Given the description of an element on the screen output the (x, y) to click on. 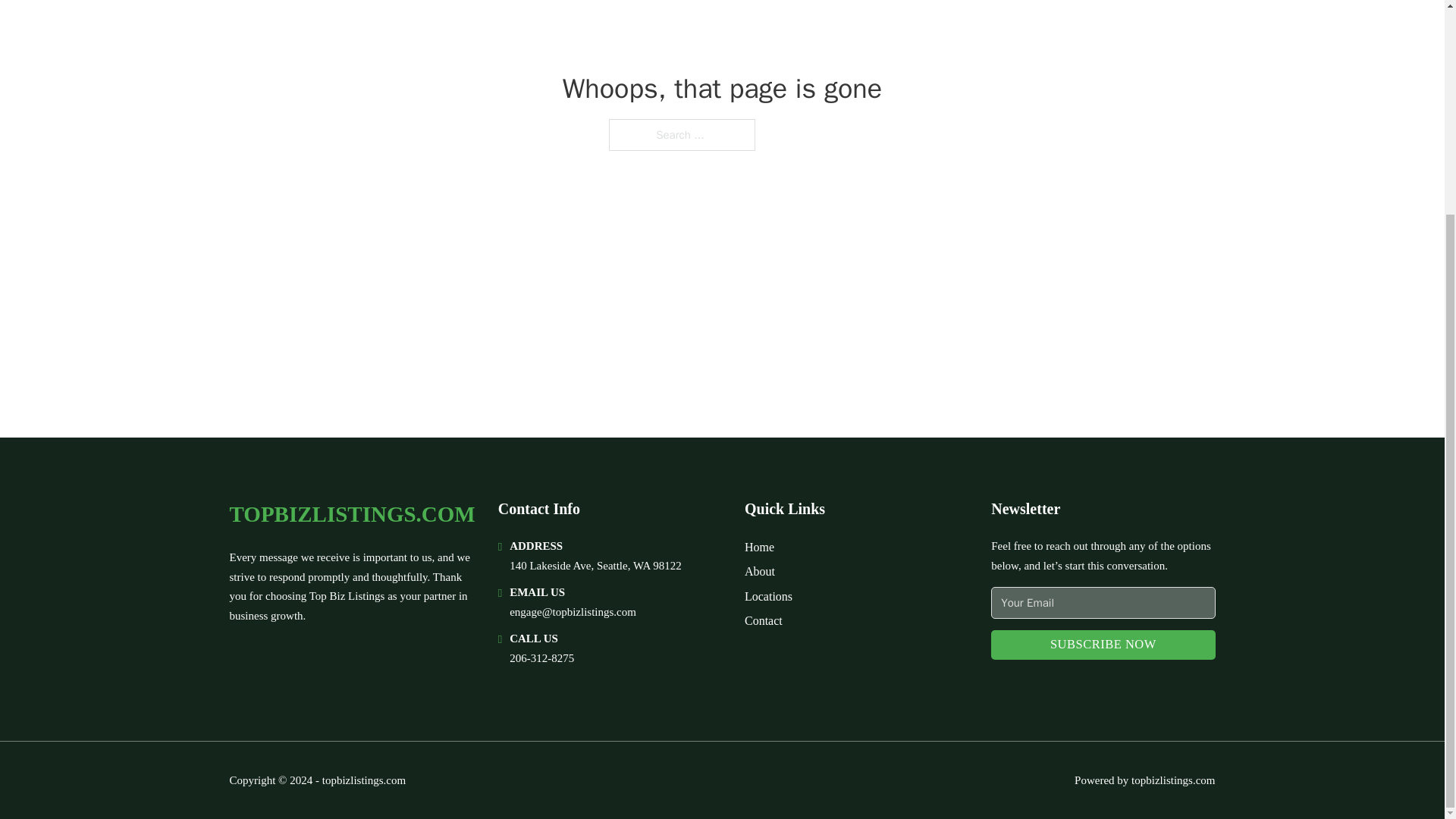
Locations (768, 596)
About (759, 571)
SUBSCRIBE NOW (1102, 644)
TOPBIZLISTINGS.COM (351, 514)
206-312-8275 (541, 657)
Contact (763, 620)
Home (759, 547)
